Given the description of an element on the screen output the (x, y) to click on. 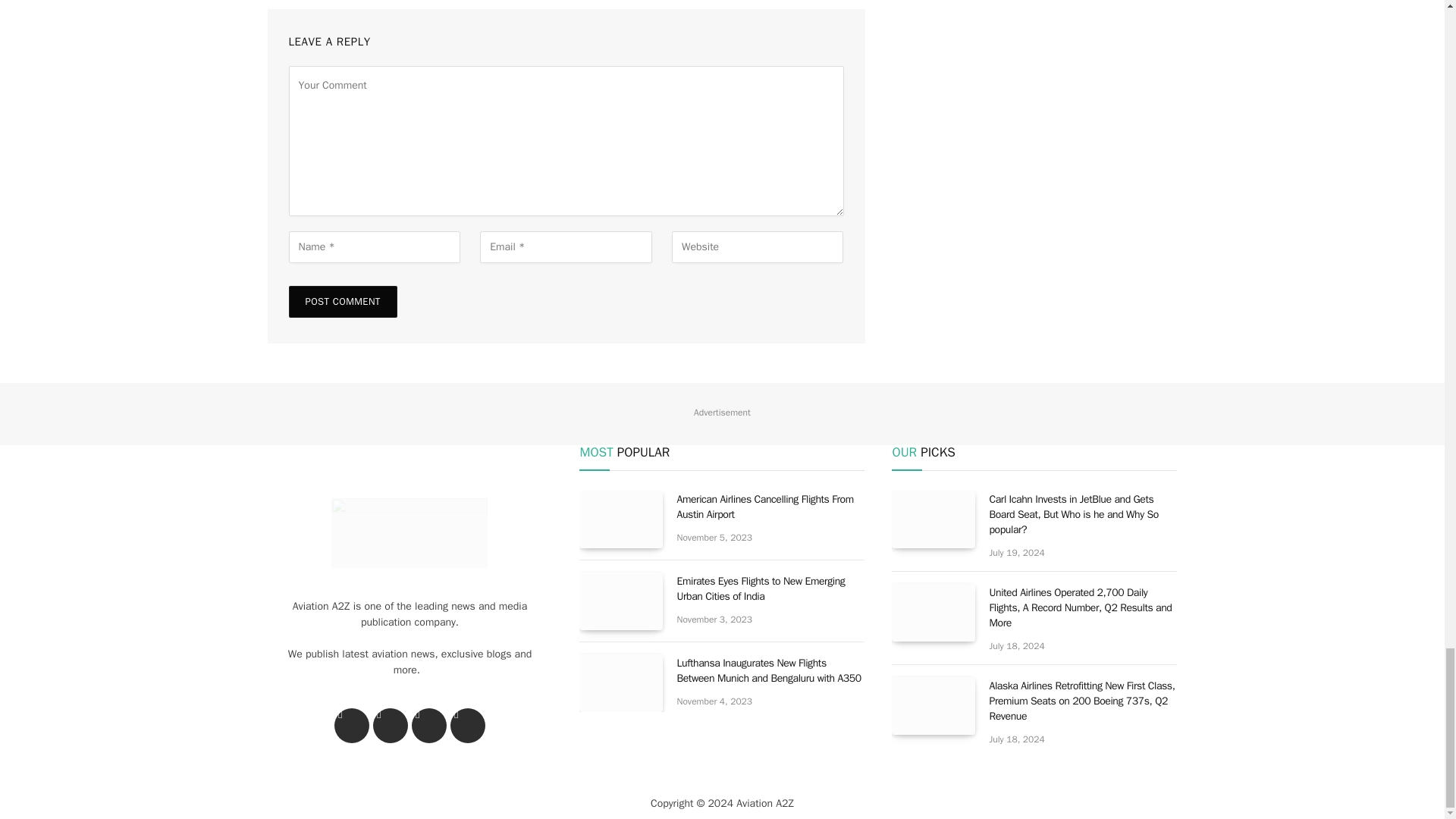
Post Comment (342, 301)
